Given the description of an element on the screen output the (x, y) to click on. 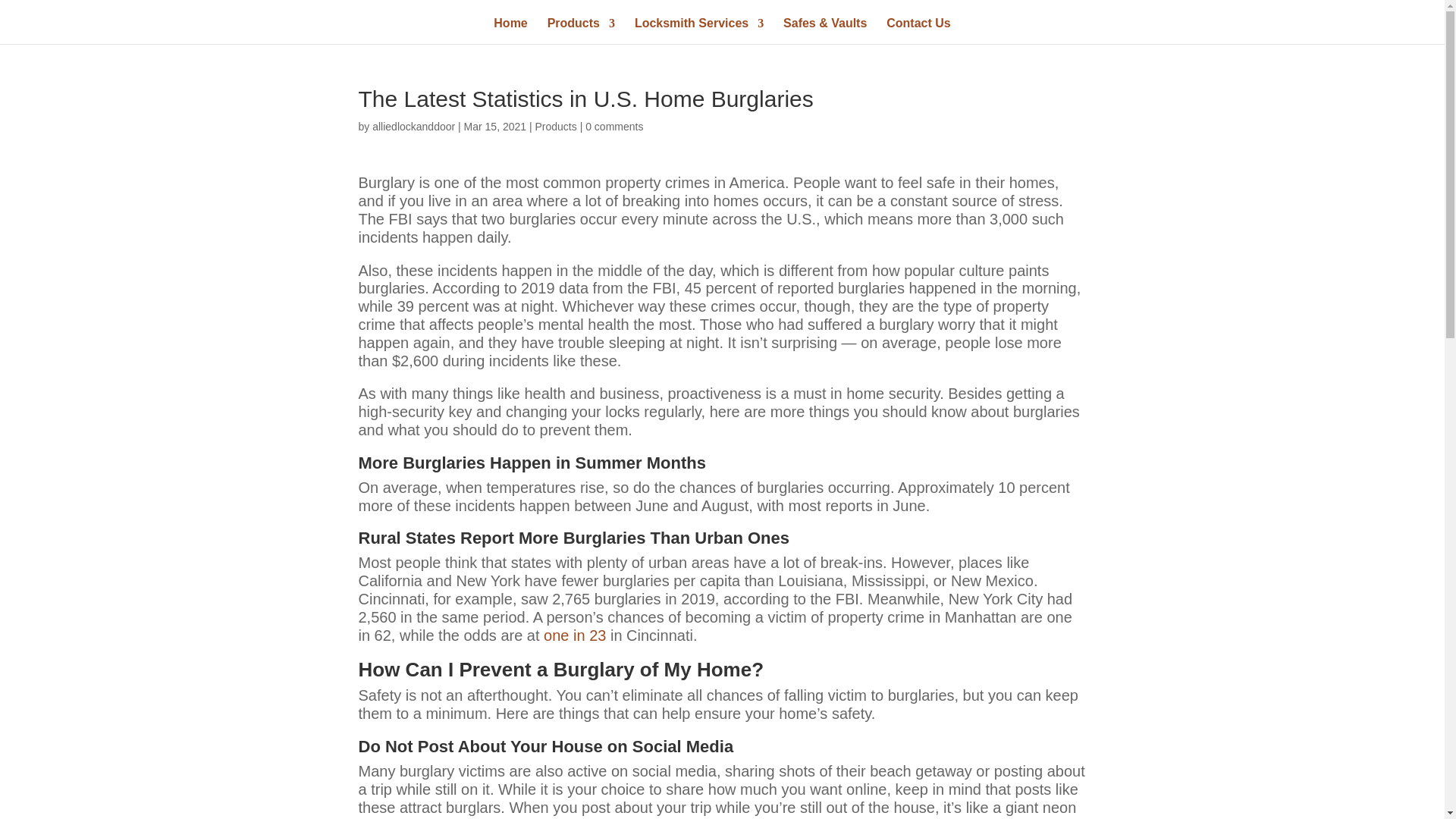
Locksmith Services (698, 31)
Home (510, 31)
Posts by alliedlockanddoor (413, 126)
Products (555, 126)
Contact Us (918, 31)
alliedlockanddoor (413, 126)
one in 23 (574, 635)
Products (580, 31)
0 comments (614, 126)
